Given the description of an element on the screen output the (x, y) to click on. 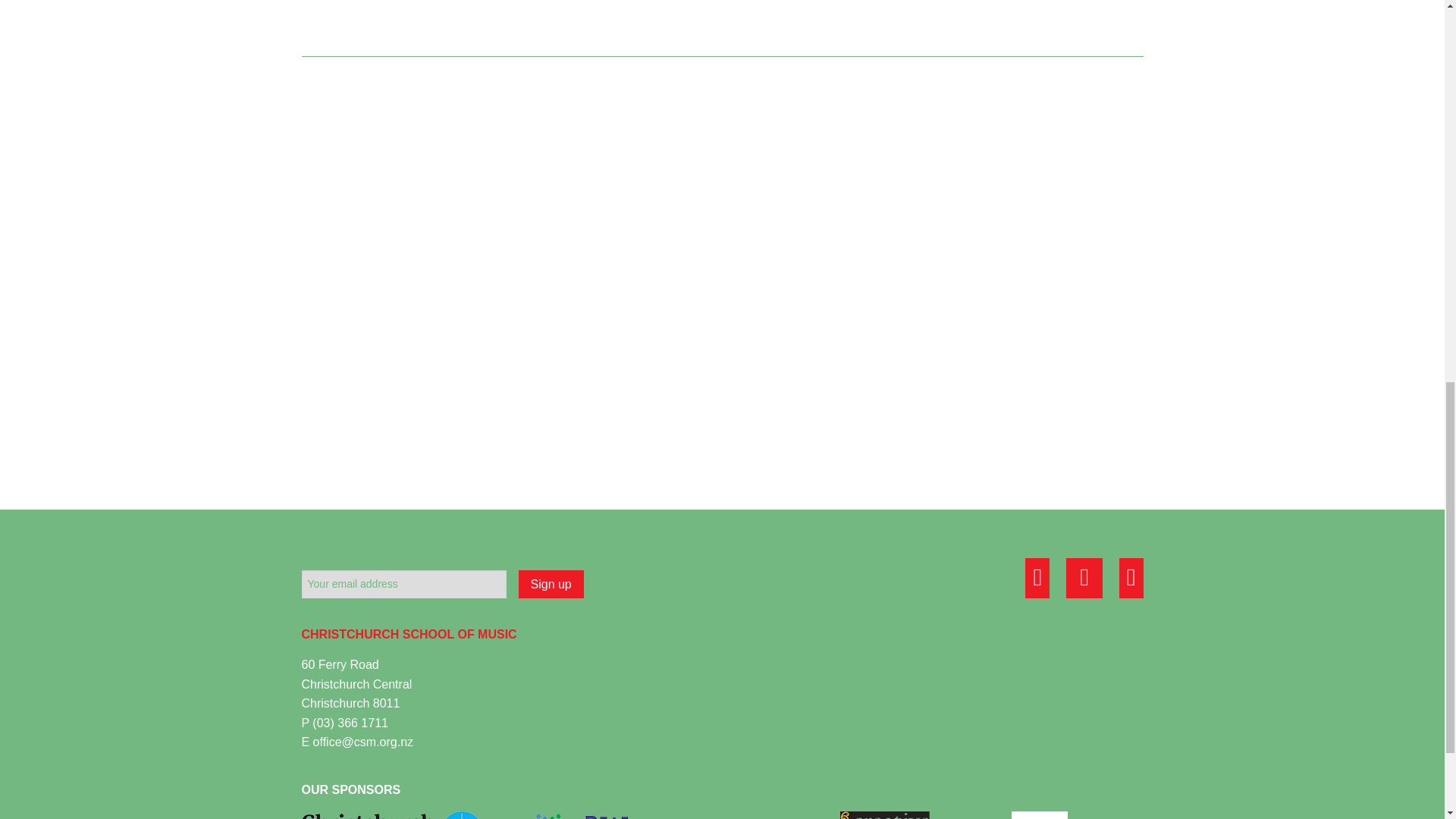
Sign up (550, 584)
